Given the description of an element on the screen output the (x, y) to click on. 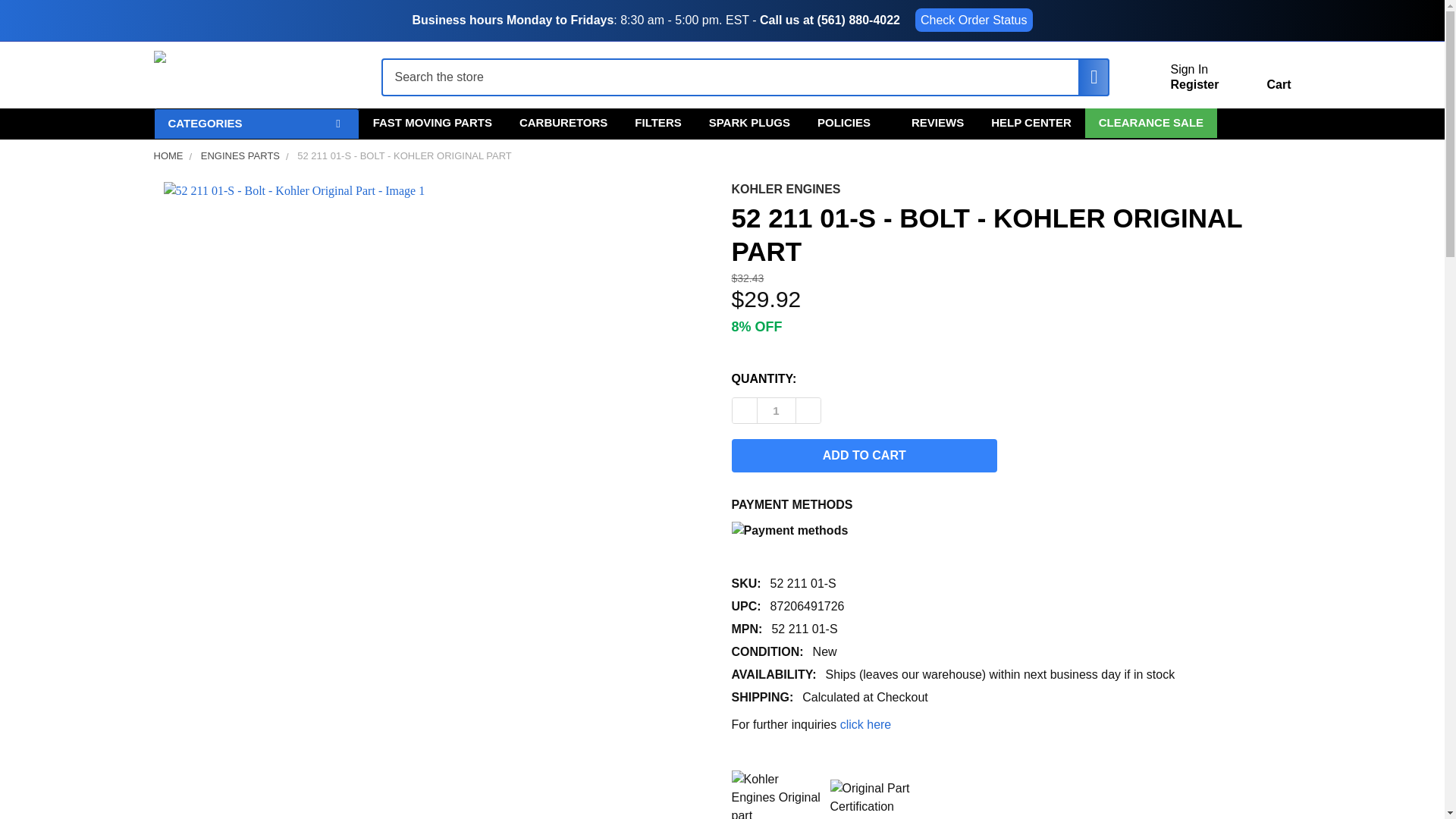
Check Order Status (973, 19)
Cart (1260, 80)
Search (1085, 77)
Search (1085, 77)
Sign In (1189, 69)
Cart (1260, 80)
CATEGORIES (255, 123)
Add to Cart (863, 455)
Register (1194, 84)
GeoTrust Secured (874, 797)
